Given the description of an element on the screen output the (x, y) to click on. 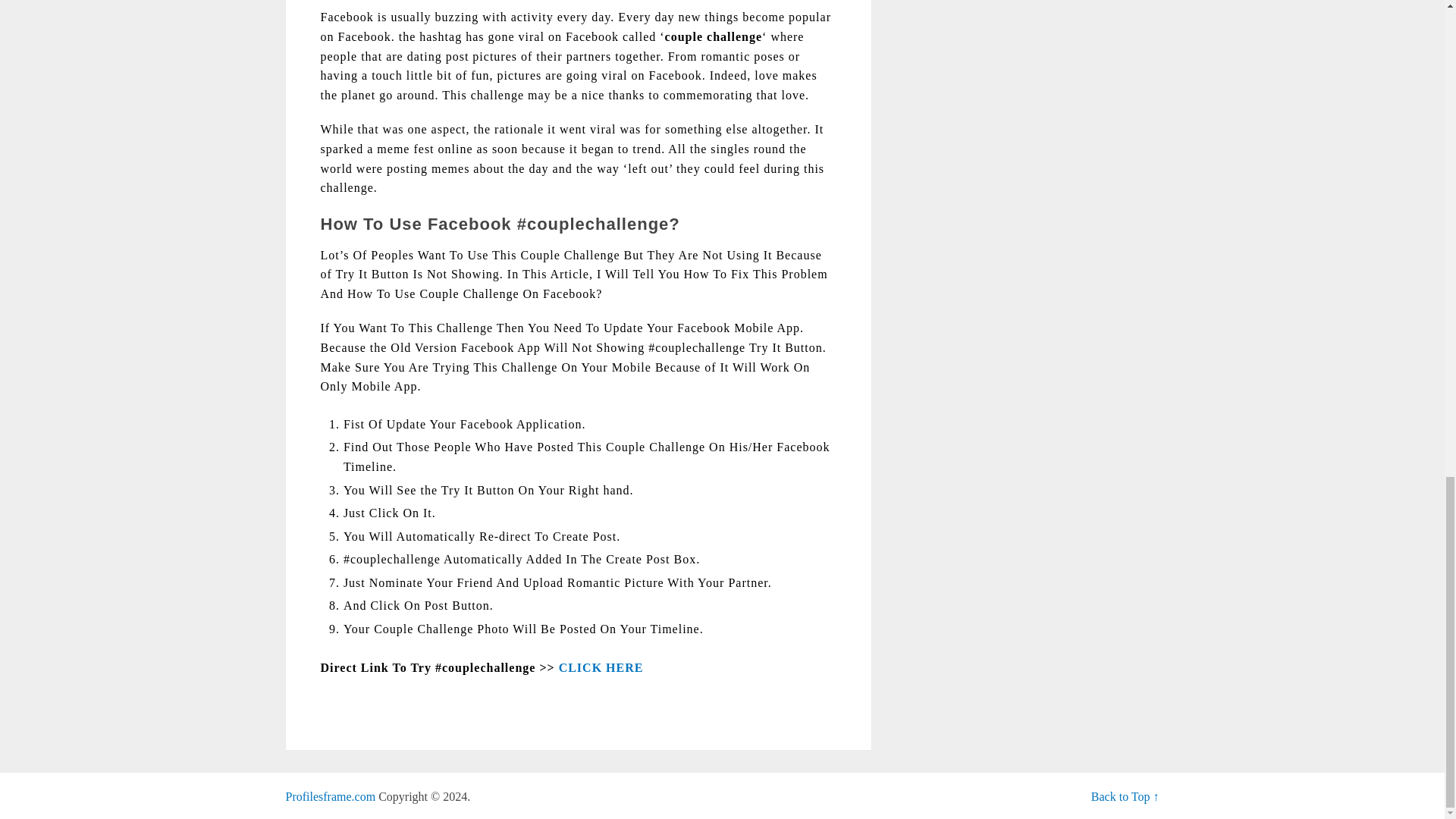
Set Your Profile Picture With Our Frame (330, 796)
CLICK HERE (601, 667)
Profilesframe.com (330, 796)
